Given the description of an element on the screen output the (x, y) to click on. 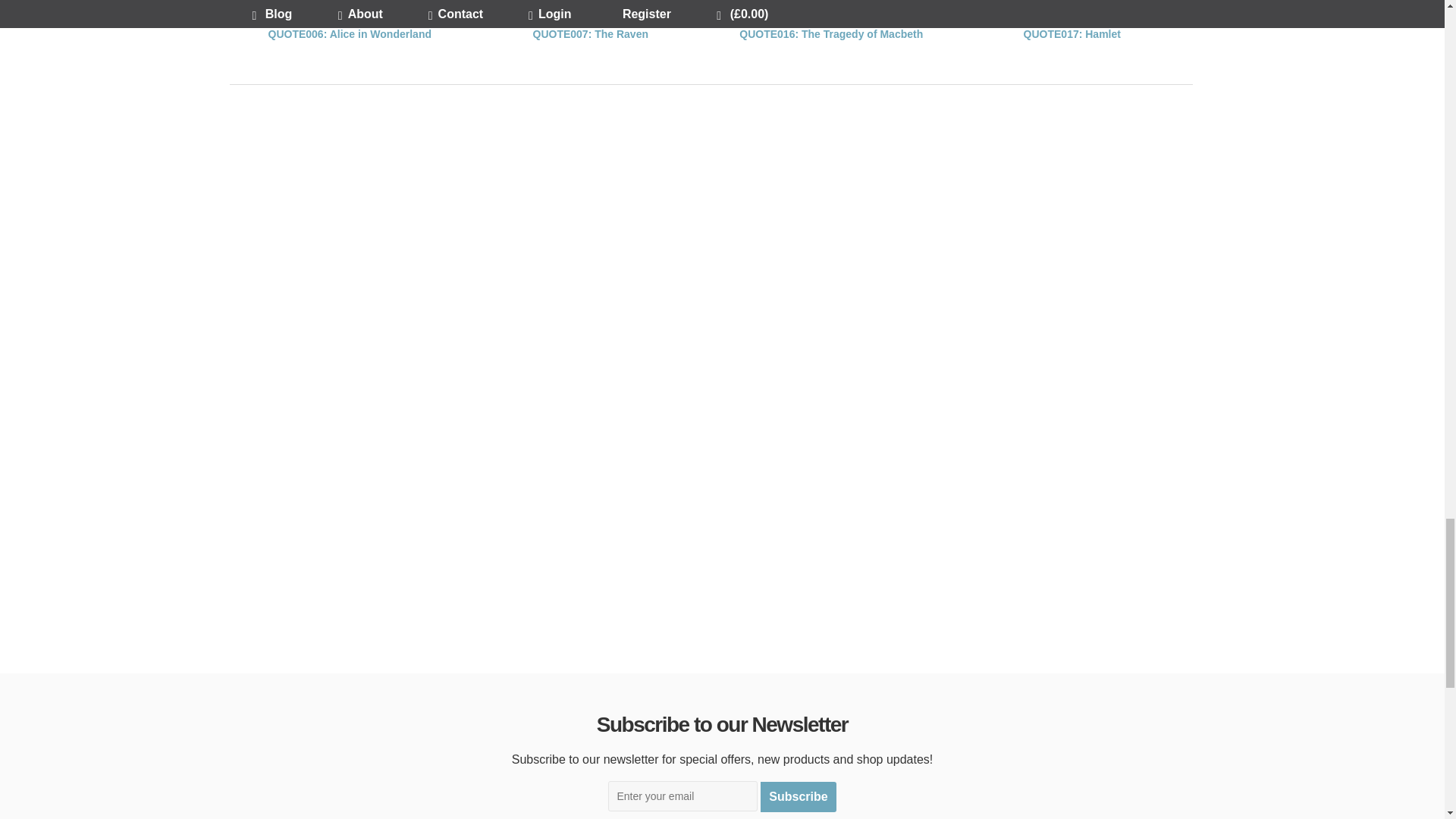
Subscribe (797, 797)
